Given the description of an element on the screen output the (x, y) to click on. 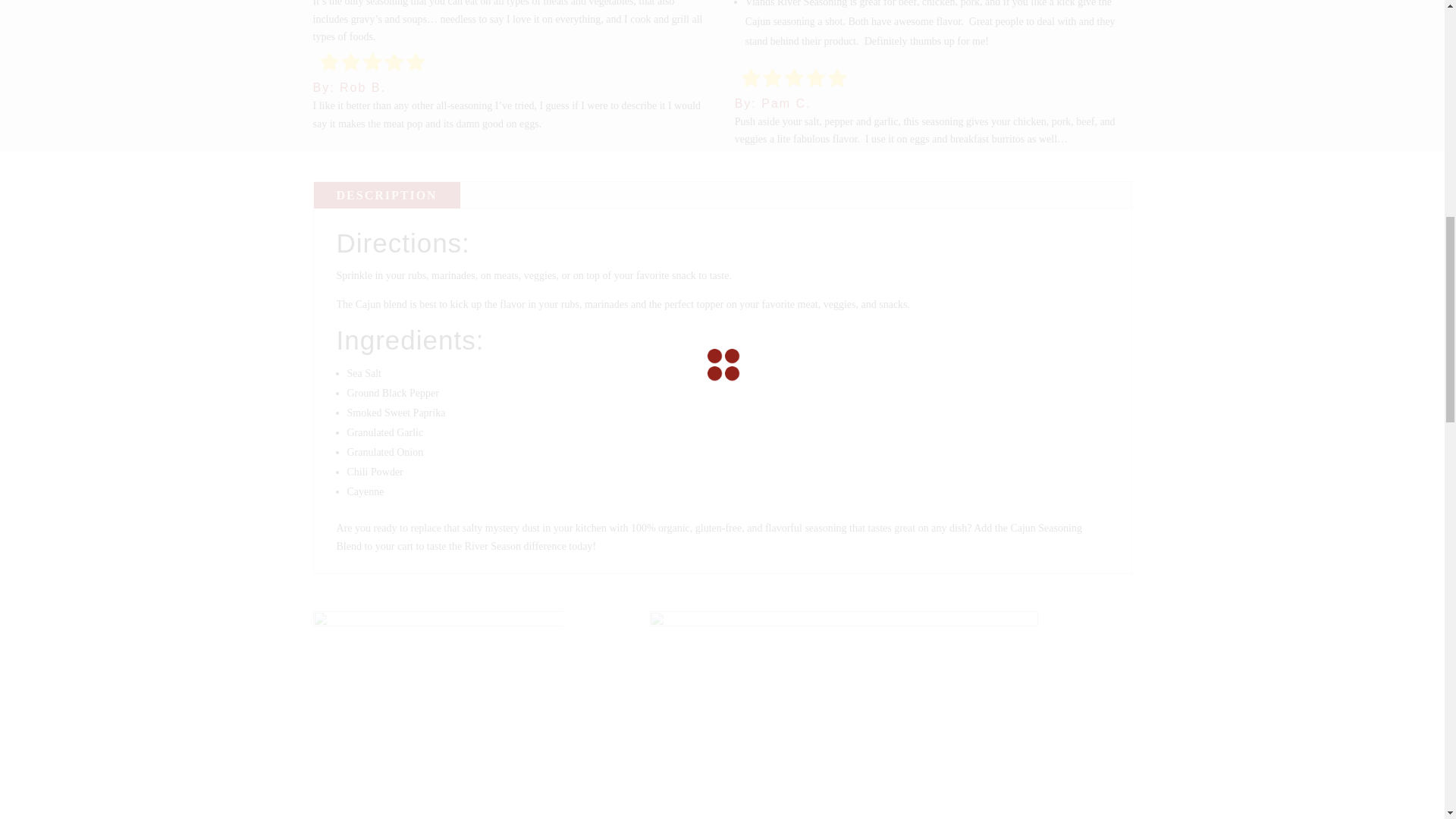
five-star-review (371, 61)
viands-season-guarantee (437, 714)
viands-seasoning-promo-thumbnail (843, 714)
DESCRIPTION (387, 194)
five-star-review (794, 78)
